Given the description of an element on the screen output the (x, y) to click on. 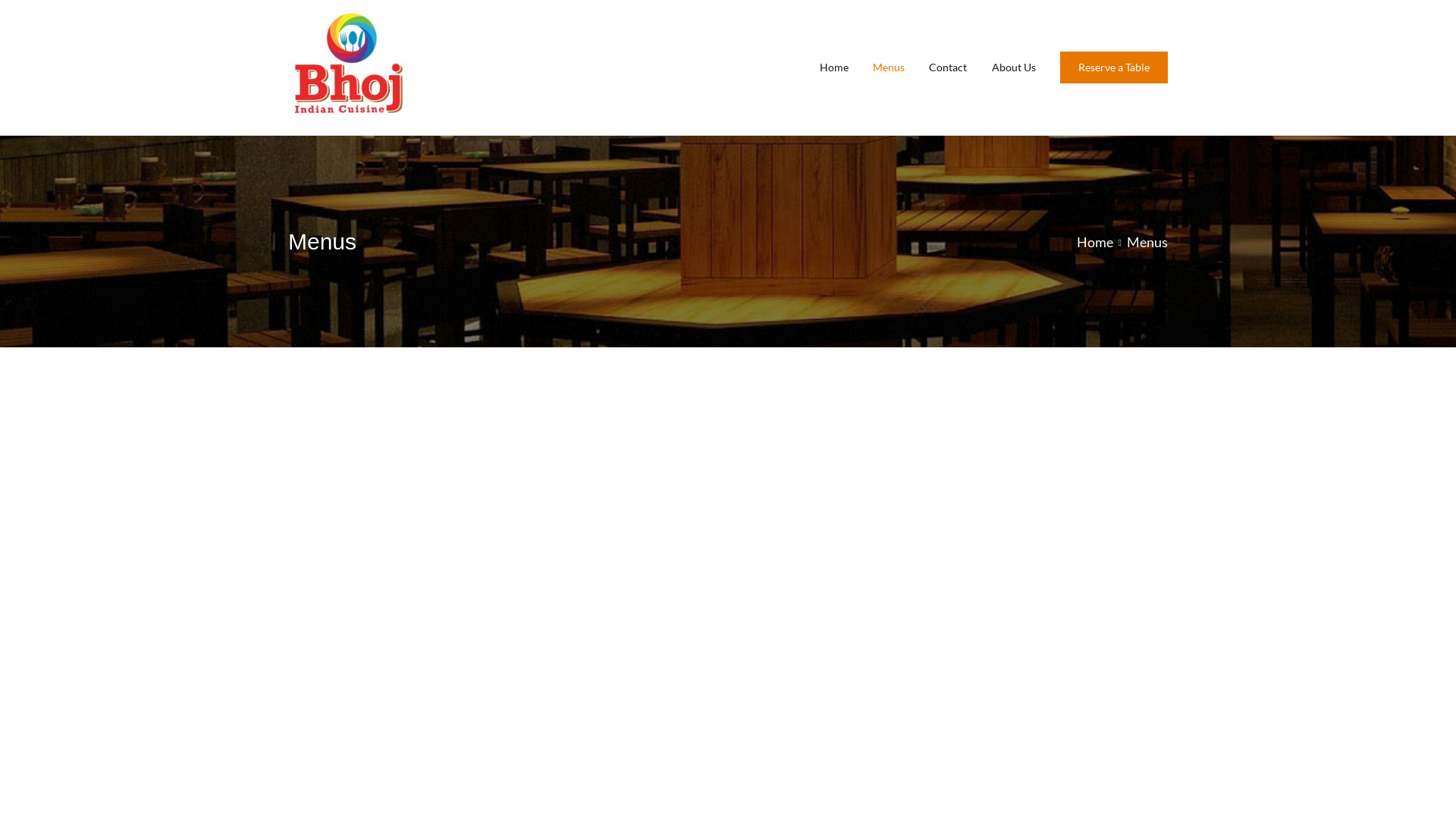
Reserve a Table Element type: text (93, 248)
Home Element type: text (50, 150)
Home Element type: text (54, 505)
About Us Element type: text (59, 224)
Bhoj Indian Cuisine Element type: text (61, 149)
Menus Element type: text (52, 175)
Contact Element type: text (55, 199)
